Given the description of an element on the screen output the (x, y) to click on. 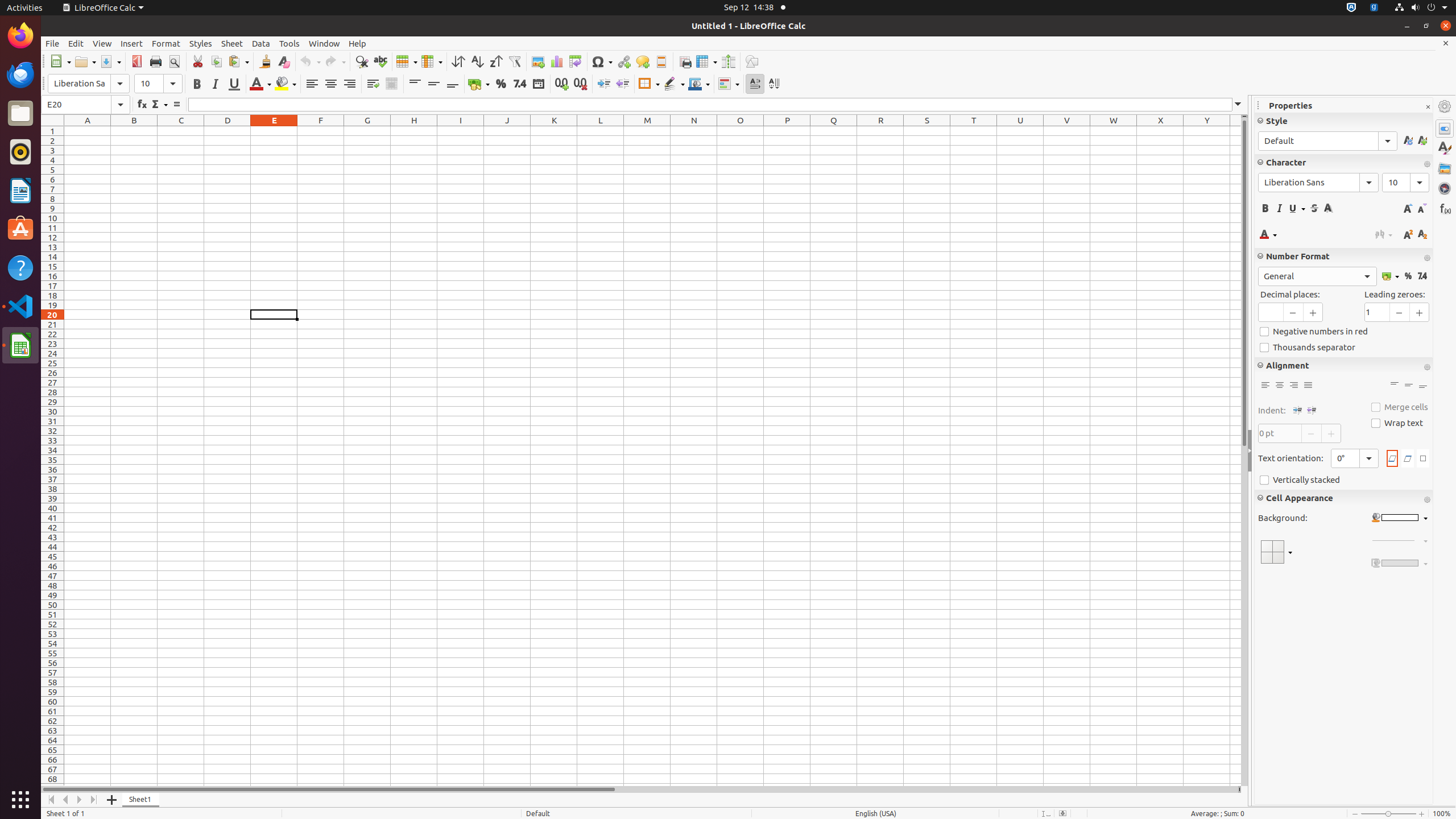
Align Right Element type: toggle-button (1293, 385)
Print Area Element type: push-button (684, 61)
Merge and Center Cells Element type: push-button (391, 83)
Chart Element type: push-button (556, 61)
F1 Element type: table-cell (320, 130)
